Given the description of an element on the screen output the (x, y) to click on. 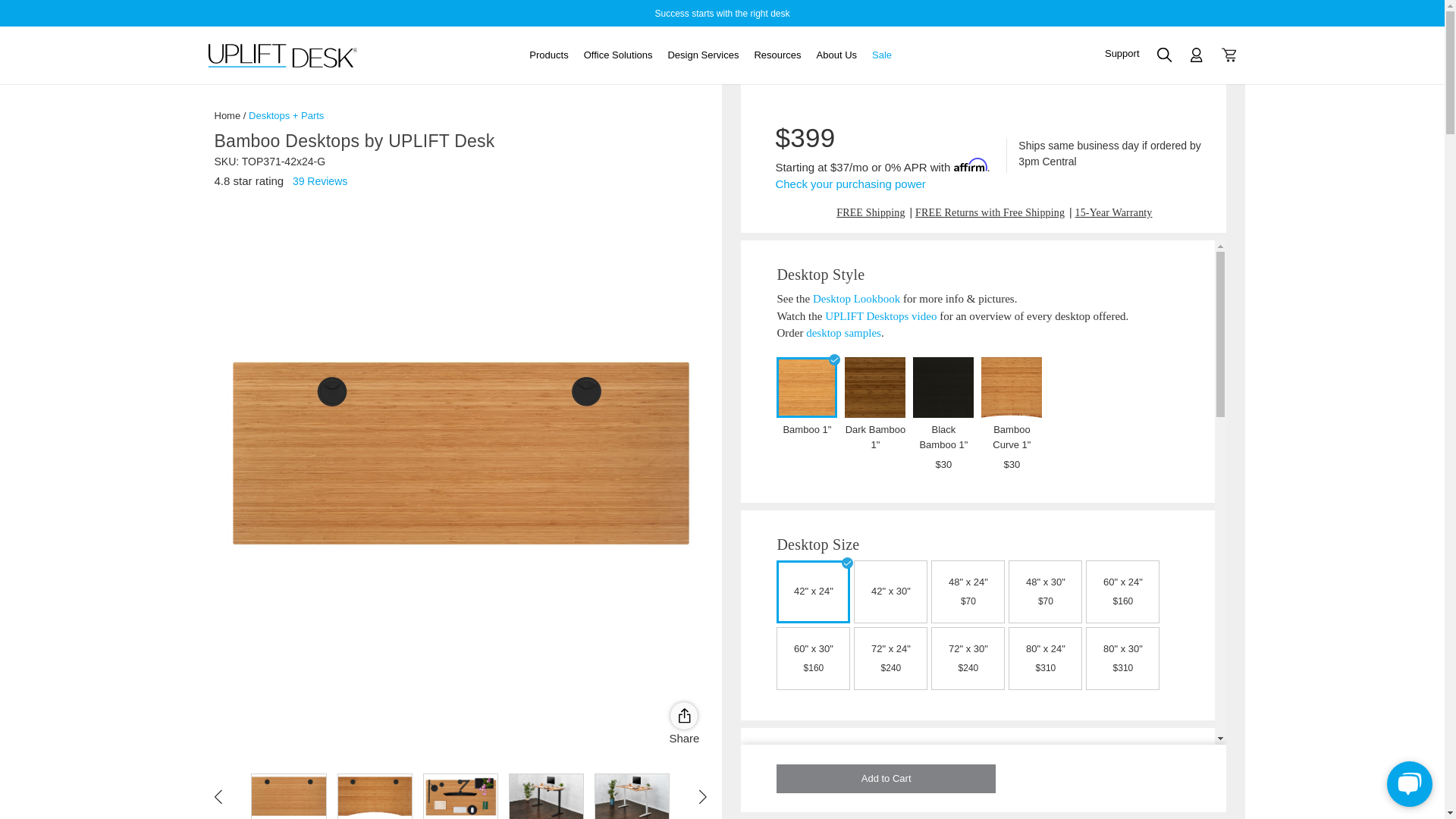
Success starts with the right desk (721, 12)
Products (548, 55)
